Given the description of an element on the screen output the (x, y) to click on. 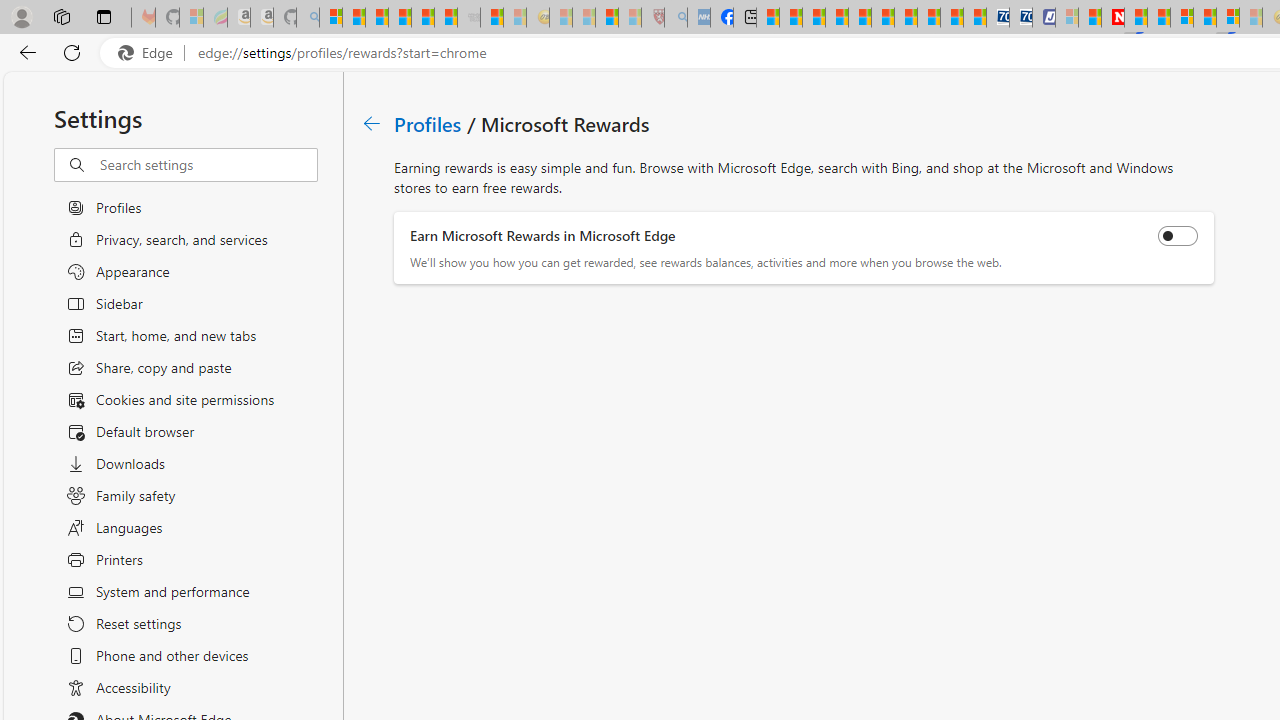
Climate Damage Becomes Too Severe To Reverse (836, 17)
